Given the description of an element on the screen output the (x, y) to click on. 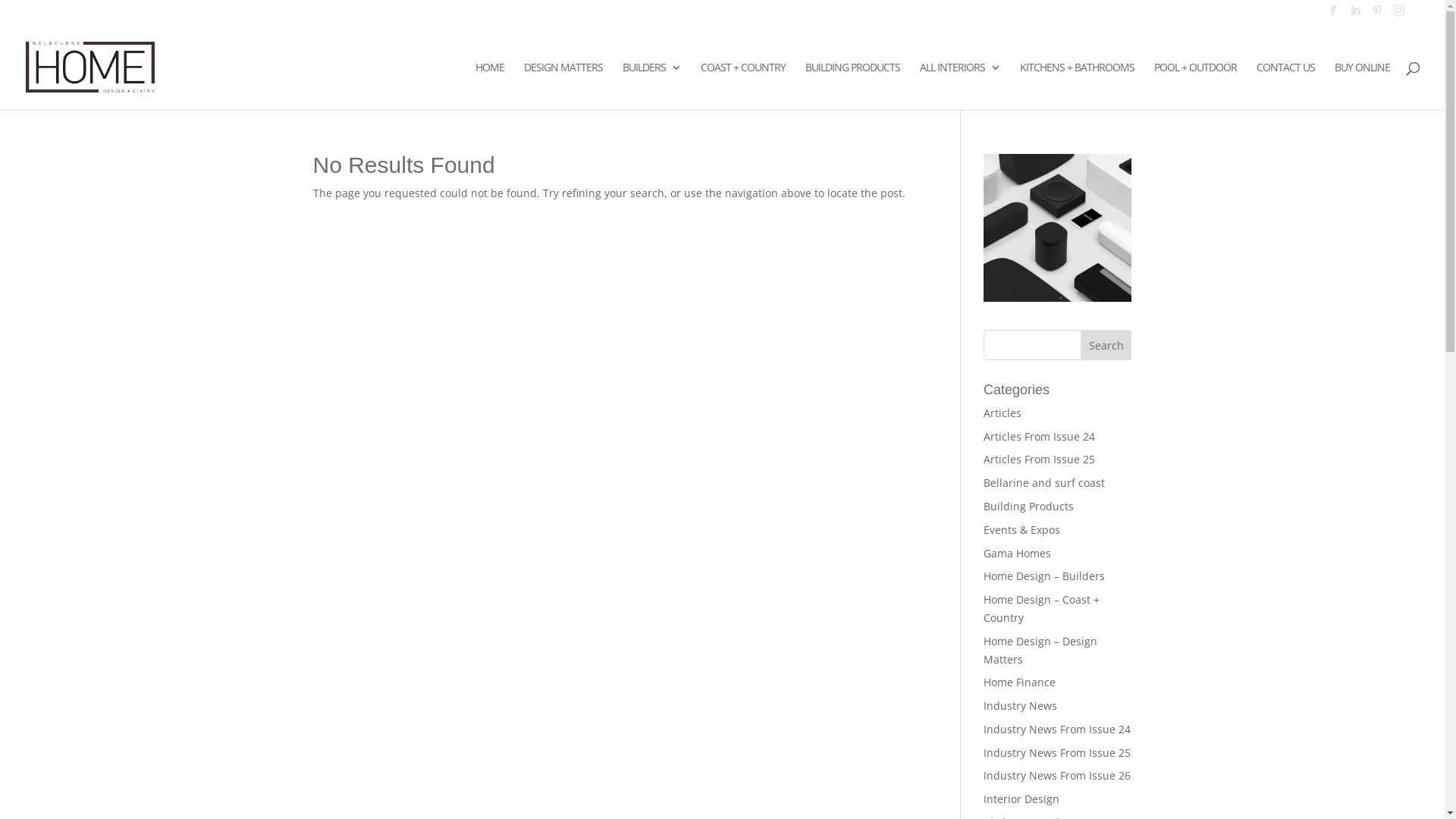
COAST + COUNTRY Element type: text (742, 85)
Industry News Element type: text (1020, 705)
DESIGN MATTERS Element type: text (563, 85)
Industry News From Issue 26 Element type: text (1056, 775)
Articles Element type: text (1002, 412)
KITCHENS + BATHROOMS Element type: text (1076, 85)
Home Finance Element type: text (1019, 681)
Industry News From Issue 25 Element type: text (1056, 752)
Gama Homes Element type: text (1017, 553)
ALL INTERIORS Element type: text (959, 85)
Building Products Element type: text (1028, 505)
Articles From Issue 25 Element type: text (1039, 458)
CONTACT US Element type: text (1285, 85)
Interior Design Element type: text (1021, 798)
BUY ONLINE Element type: text (1362, 85)
Industry News From Issue 24 Element type: text (1056, 728)
BUILDERS Element type: text (651, 85)
Events & Expos Element type: text (1021, 529)
Search Element type: text (1106, 344)
Articles From Issue 24 Element type: text (1039, 436)
POOL + OUTDOOR Element type: text (1195, 85)
Bellarine and surf coast Element type: text (1043, 482)
BUILDING PRODUCTS Element type: text (852, 85)
HOME Element type: text (489, 85)
